Given the description of an element on the screen output the (x, y) to click on. 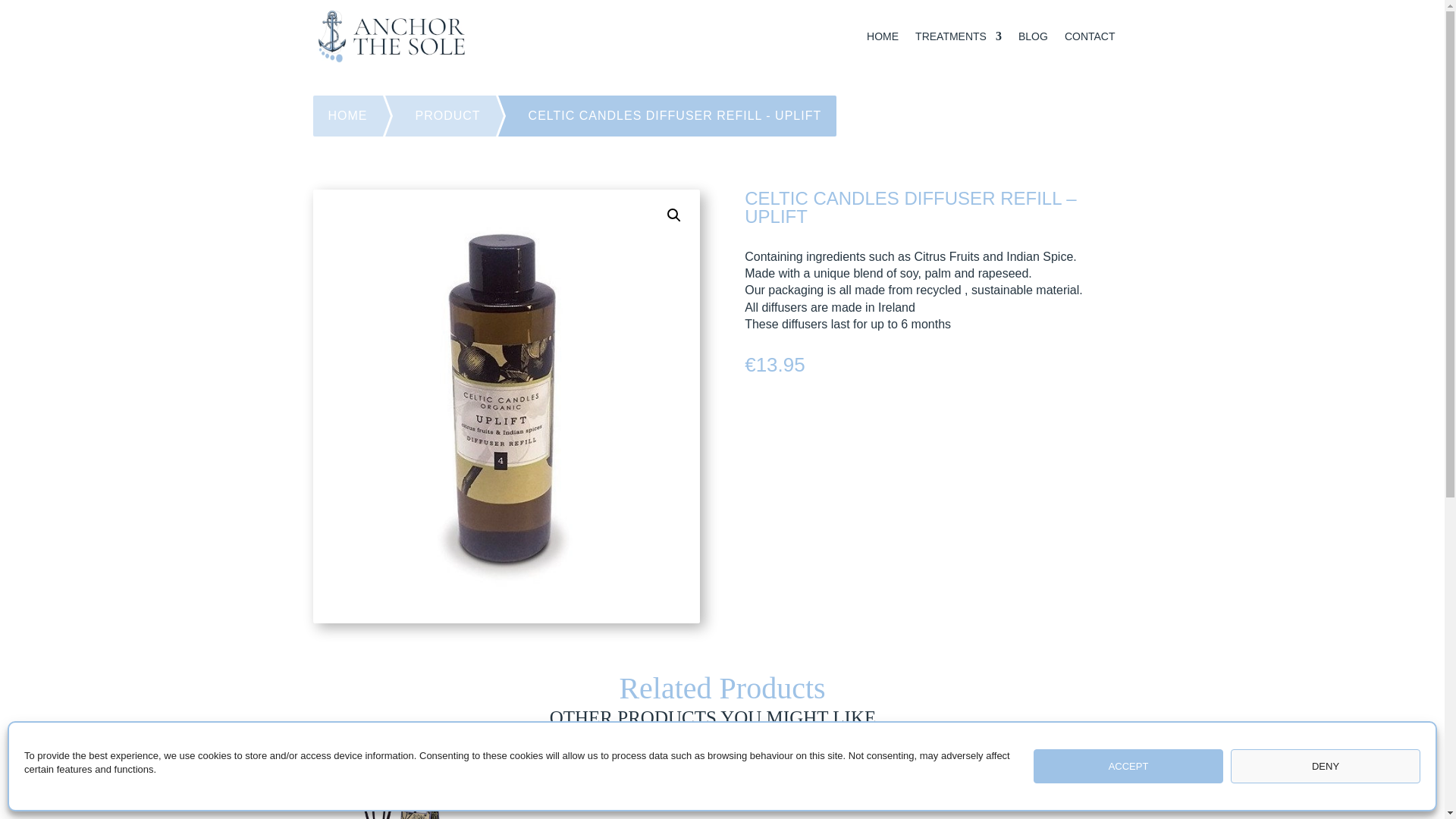
DENY (1325, 765)
HOME (355, 115)
TREATMENTS (958, 36)
ACCEPT (1128, 765)
PRODUCT (456, 115)
